Given the description of an element on the screen output the (x, y) to click on. 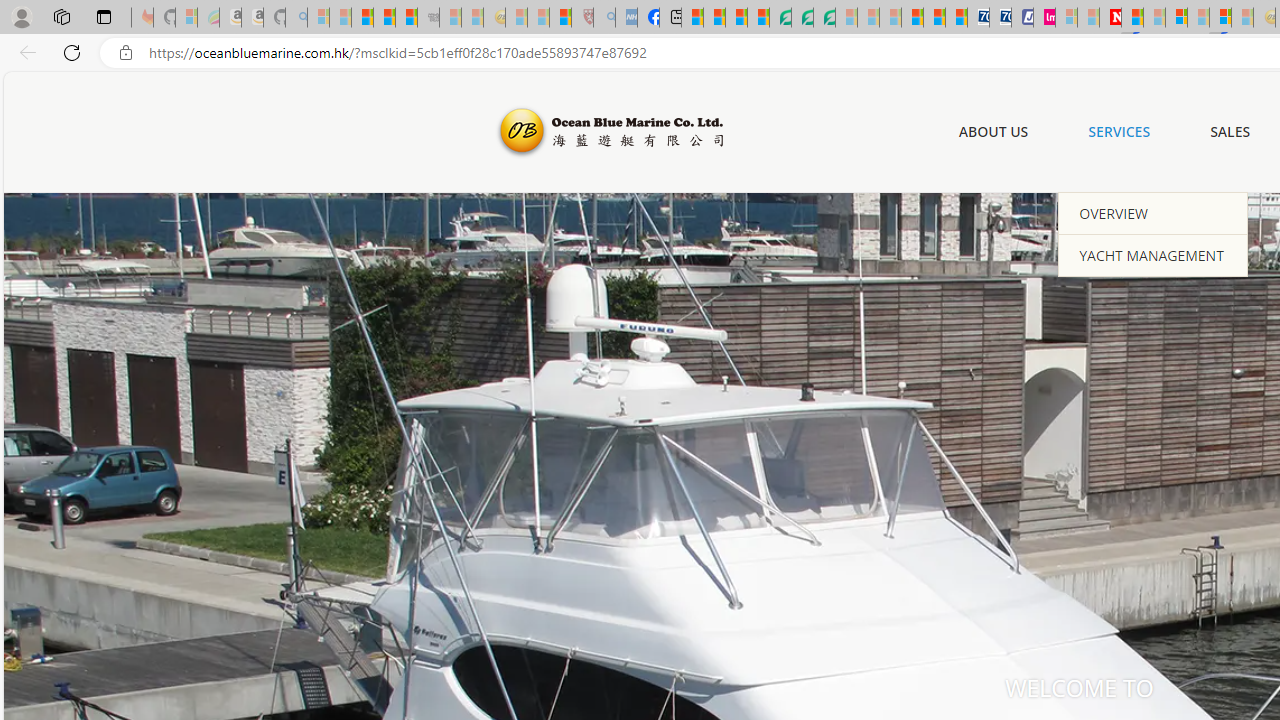
Microsoft Word - consumer-privacy address update 2.2021 (824, 17)
Cheap Hotels - Save70.com (1000, 17)
Ocean Blue Marine (608, 132)
Latest Politics News & Archive | Newsweek.com (1110, 17)
